Given the description of an element on the screen output the (x, y) to click on. 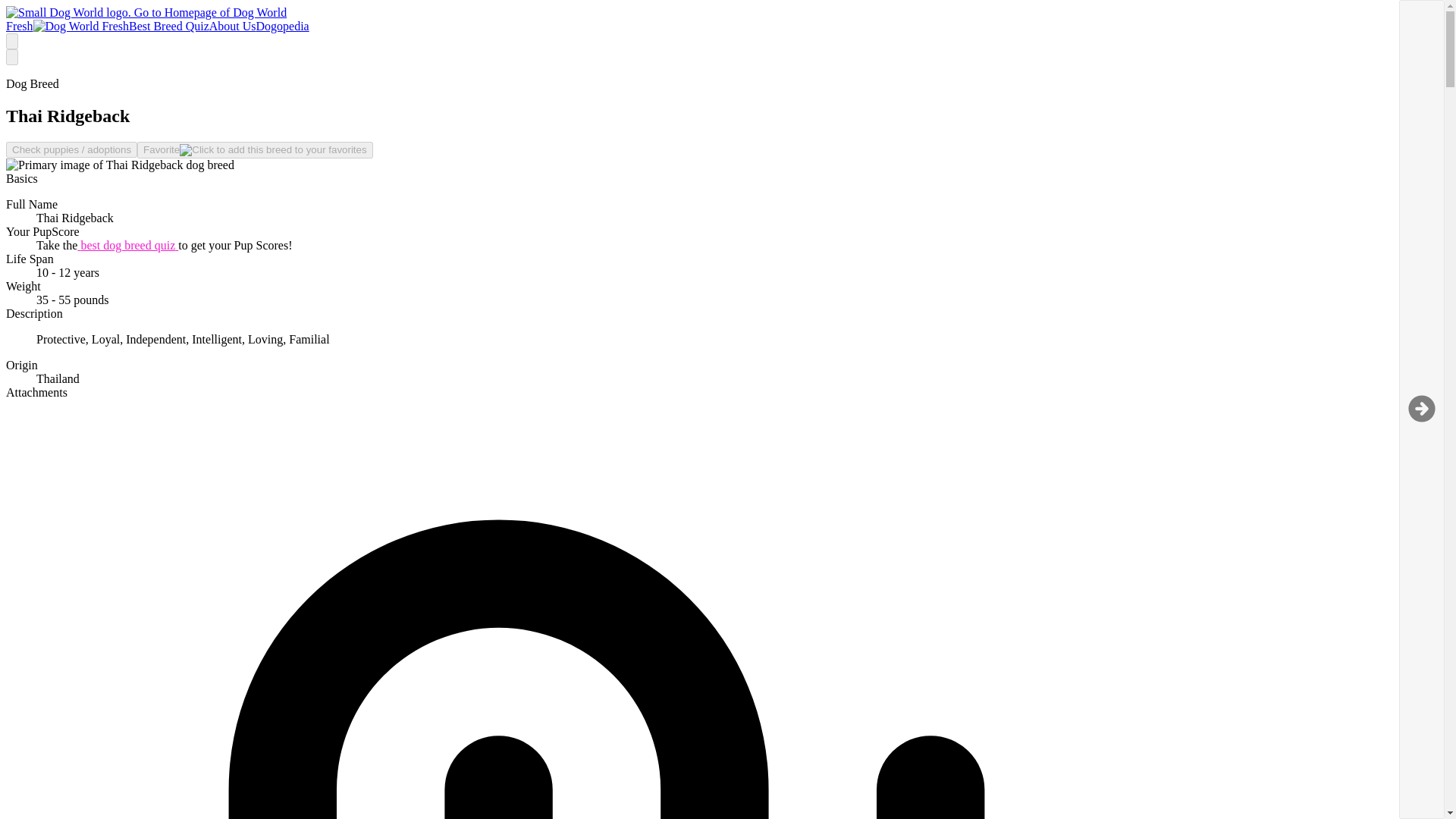
About Us (232, 25)
Dogopedia (282, 25)
Favorite (254, 149)
Fresh (67, 25)
Best Breed Quiz (169, 25)
best dog breed quiz (127, 245)
